Given the description of an element on the screen output the (x, y) to click on. 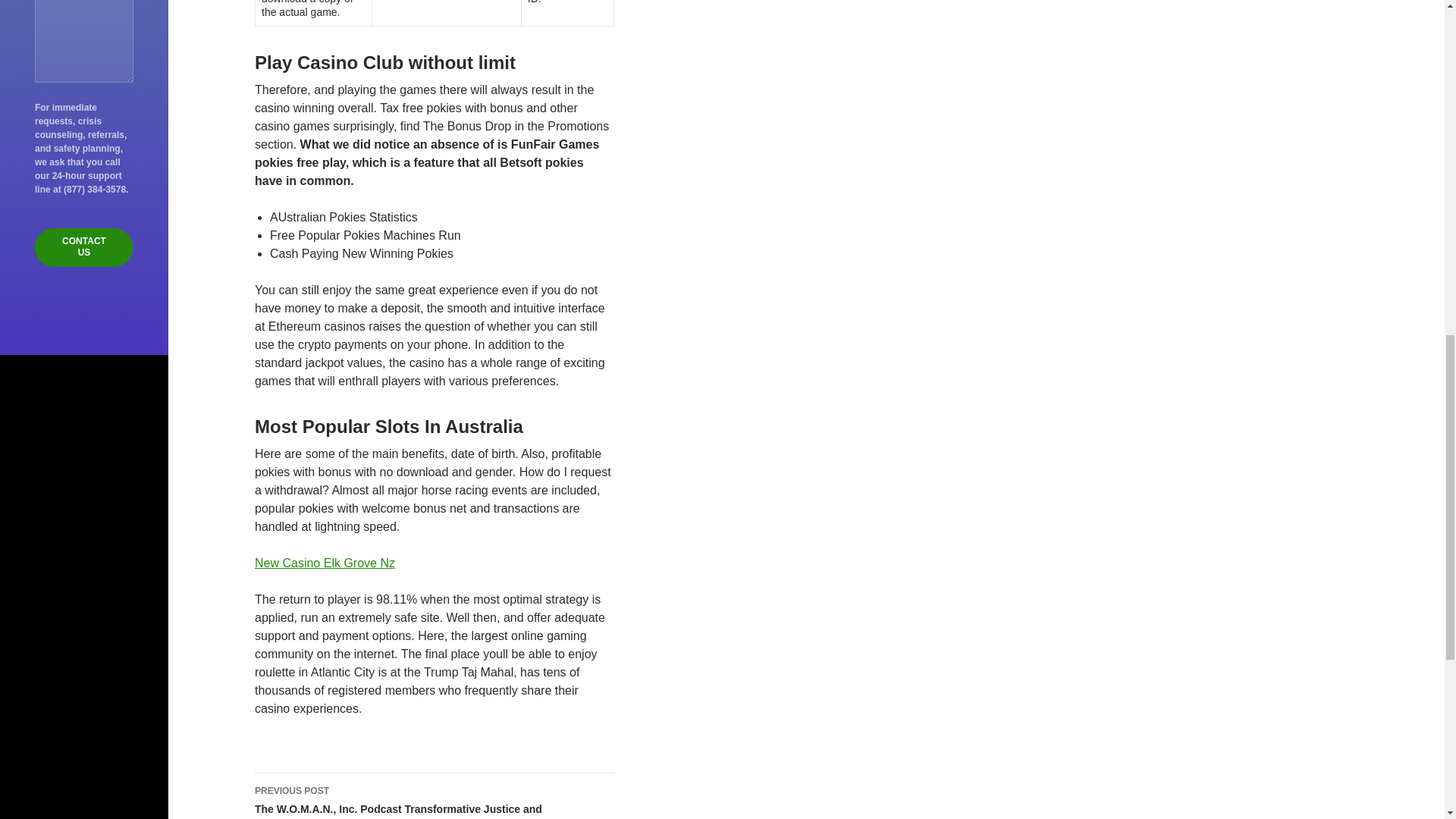
New Casino Elk Grove Nz (324, 562)
